Given the description of an element on the screen output the (x, y) to click on. 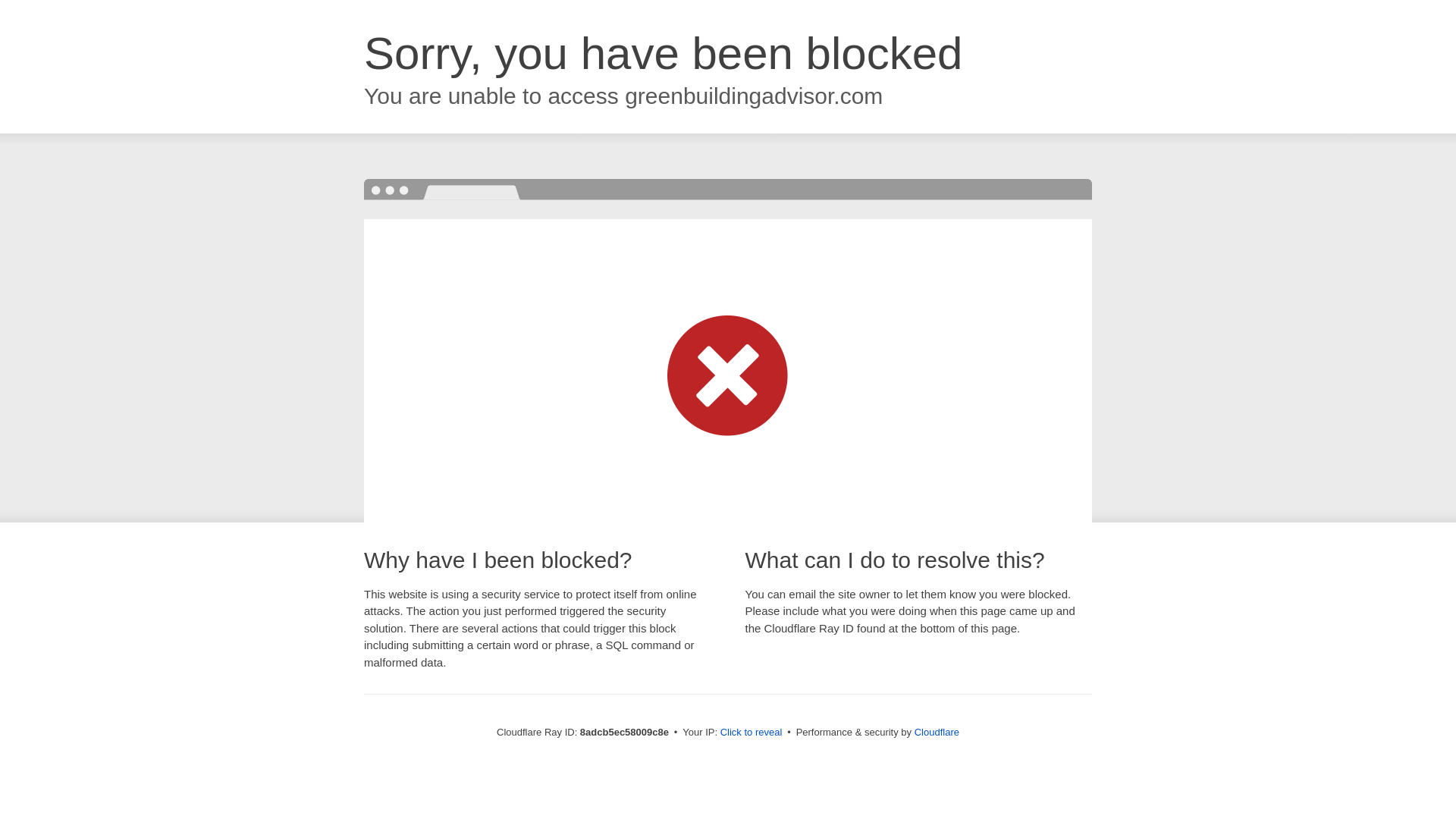
Cloudflare (936, 731)
Click to reveal (751, 732)
